Given the description of an element on the screen output the (x, y) to click on. 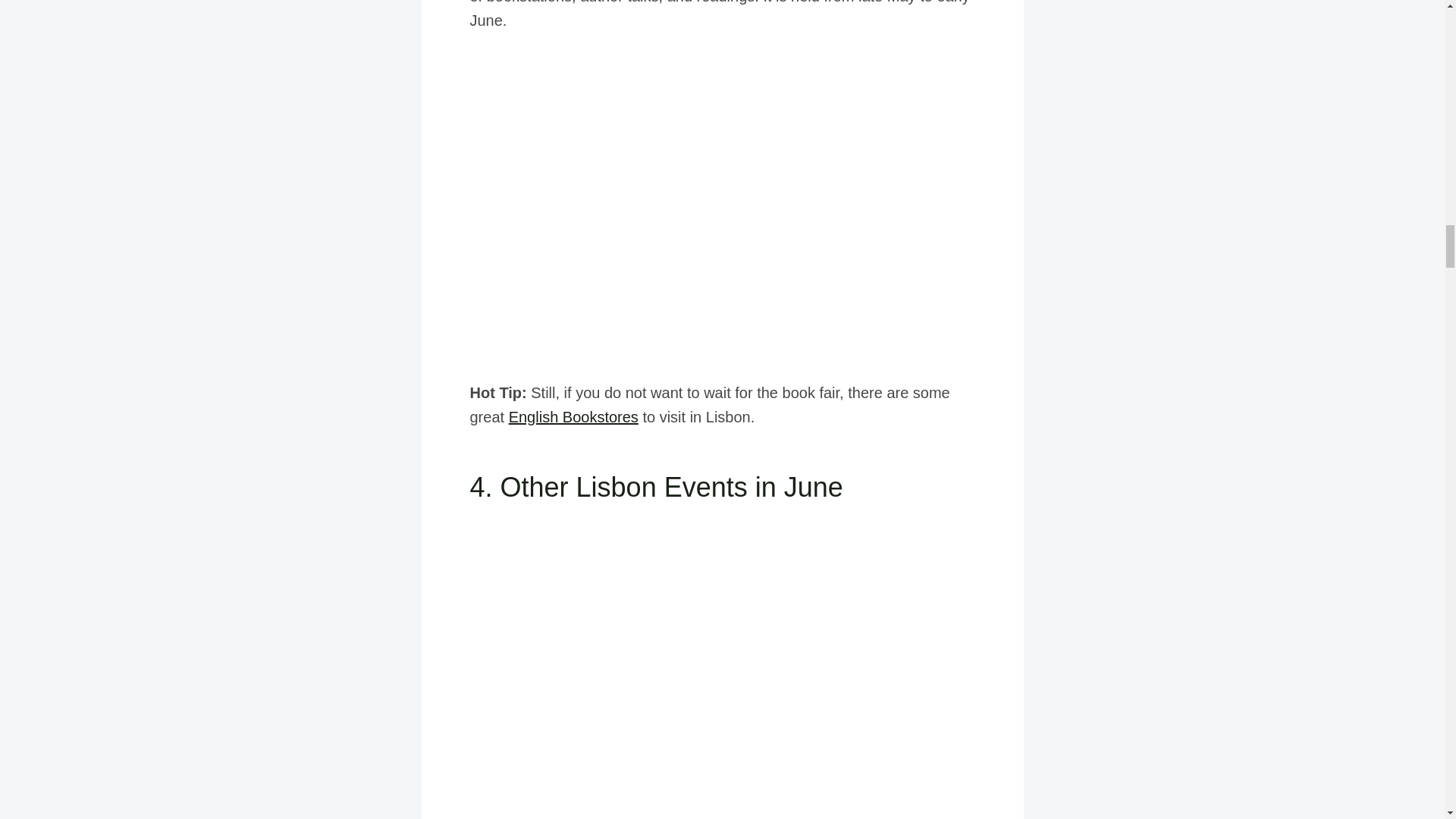
English Bookstores (573, 416)
